Given the description of an element on the screen output the (x, y) to click on. 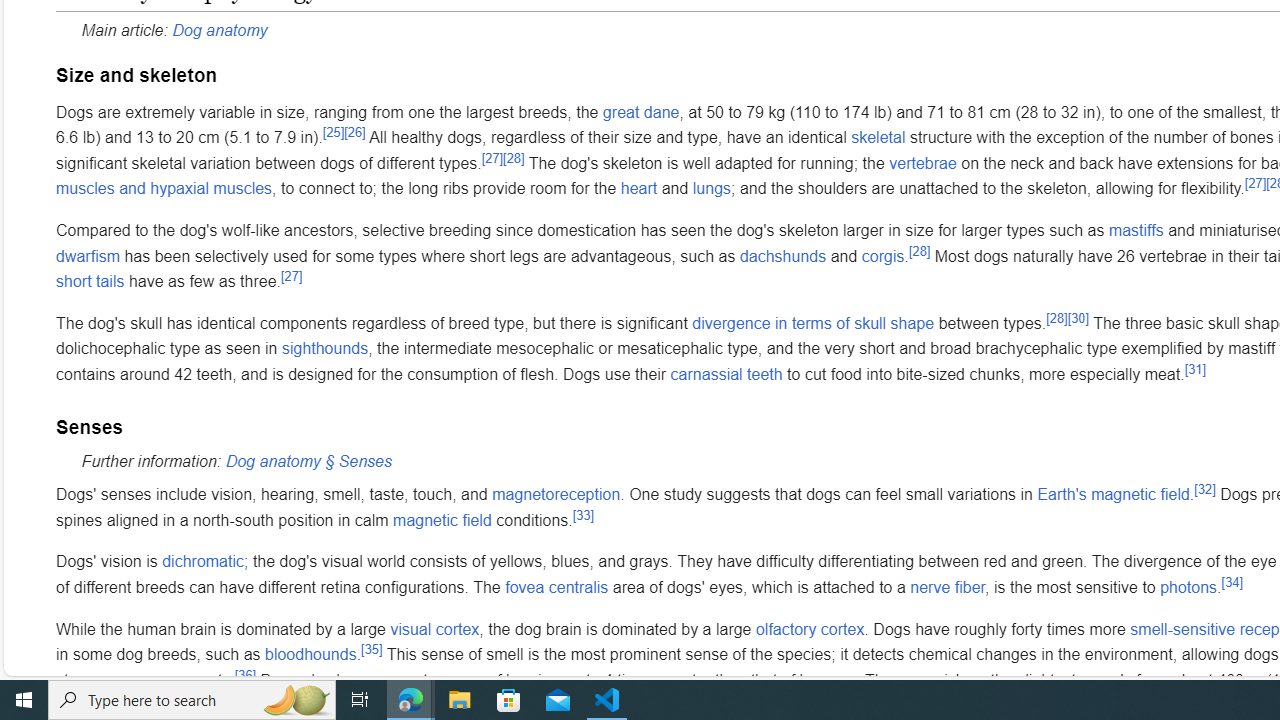
lungs (712, 189)
Earth's magnetic field (1113, 494)
Dog anatomy (219, 29)
nerve fiber (947, 587)
dichromatic (203, 561)
great dane (640, 111)
fovea centralis (557, 587)
[25] (333, 131)
[34] (1231, 581)
[31] (1195, 368)
sighthounds (324, 348)
divergence in terms of skull shape (813, 322)
[28] (1056, 318)
magnetoreception (555, 494)
carnassial teeth (726, 374)
